Given the description of an element on the screen output the (x, y) to click on. 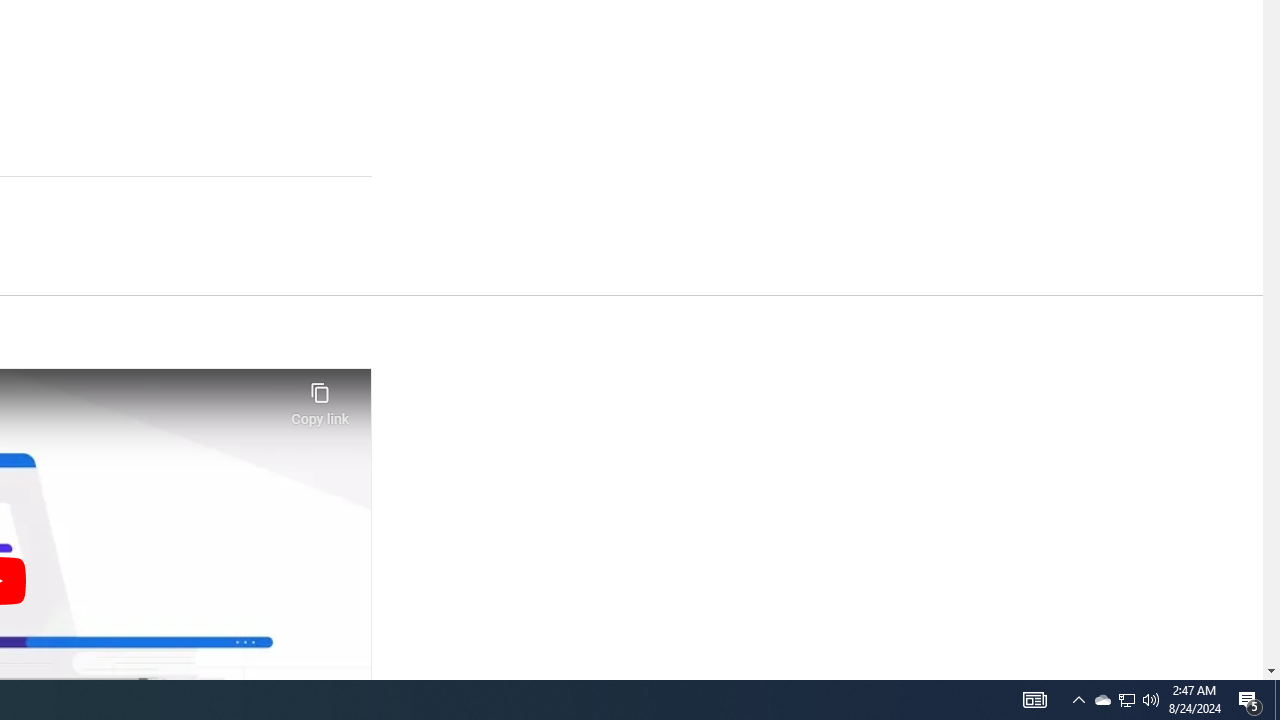
Copy link (319, 398)
